Given the description of an element on the screen output the (x, y) to click on. 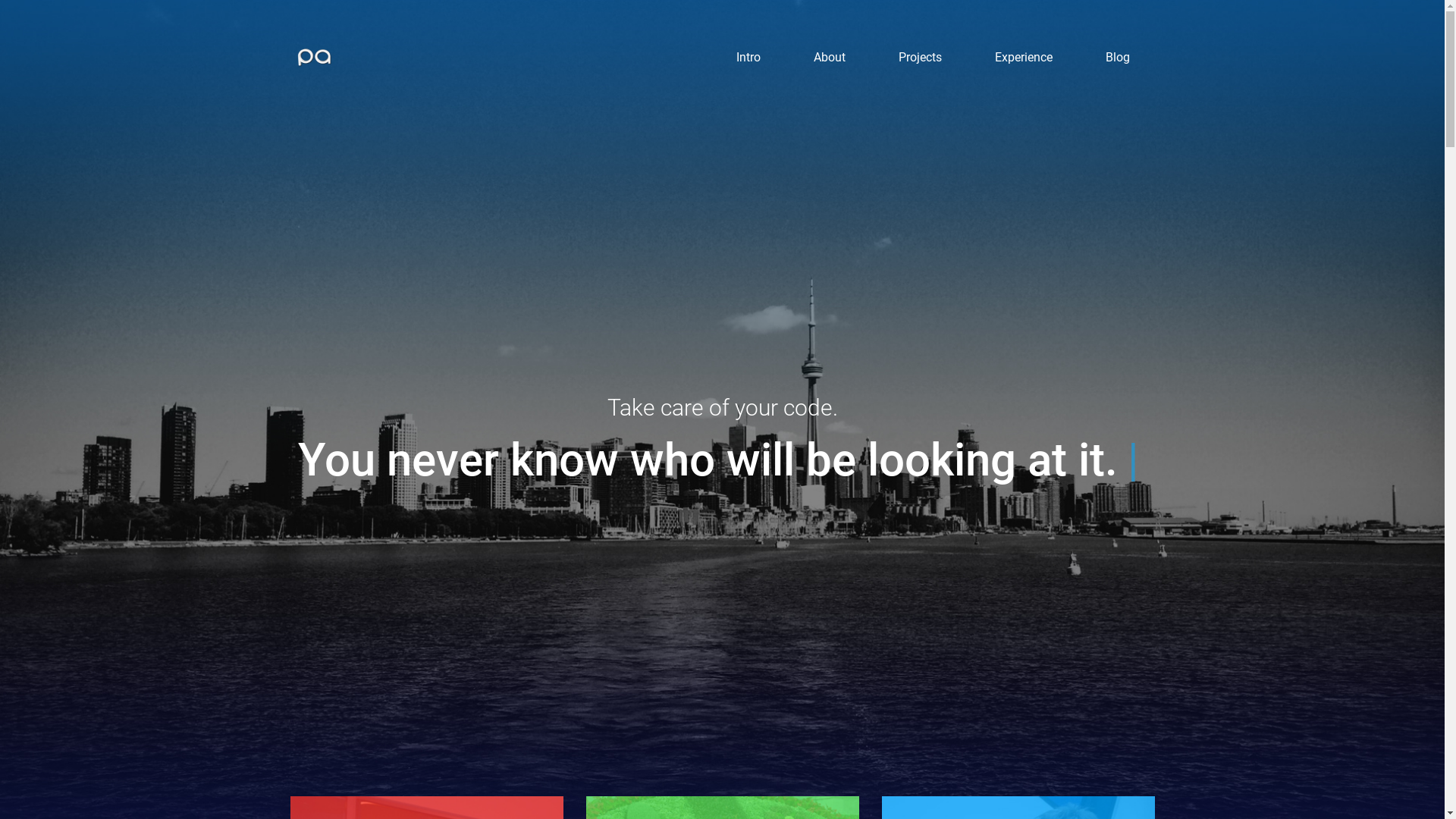
Intro Element type: text (748, 57)
About Element type: text (829, 57)
Projects Element type: text (919, 57)
Experience Element type: text (1023, 57)
Blog Element type: text (1117, 57)
